Given the description of an element on the screen output the (x, y) to click on. 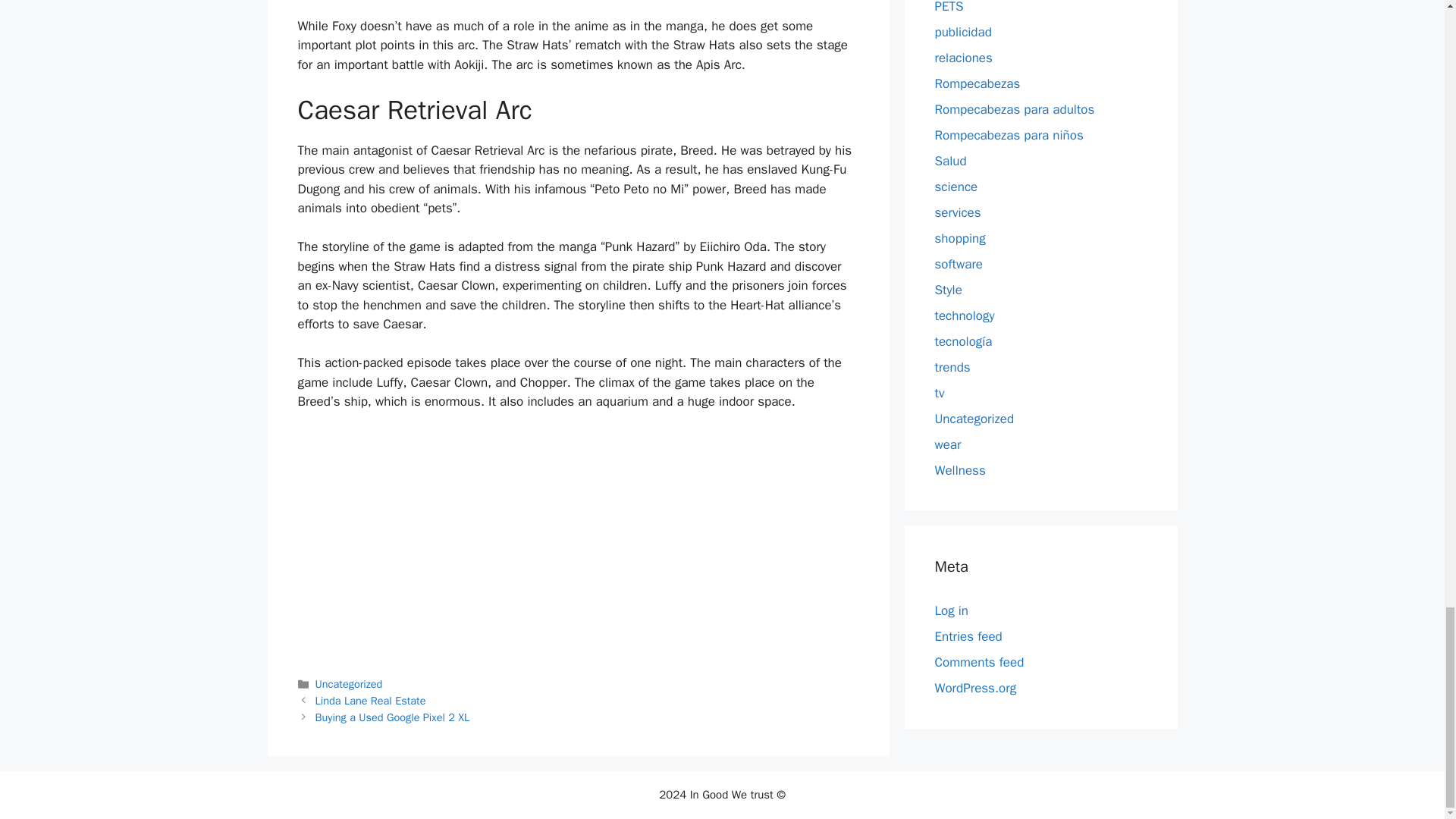
Buying a Used Google Pixel 2 XL (392, 716)
Uncategorized (348, 684)
Linda Lane Real Estate (370, 700)
